Given the description of an element on the screen output the (x, y) to click on. 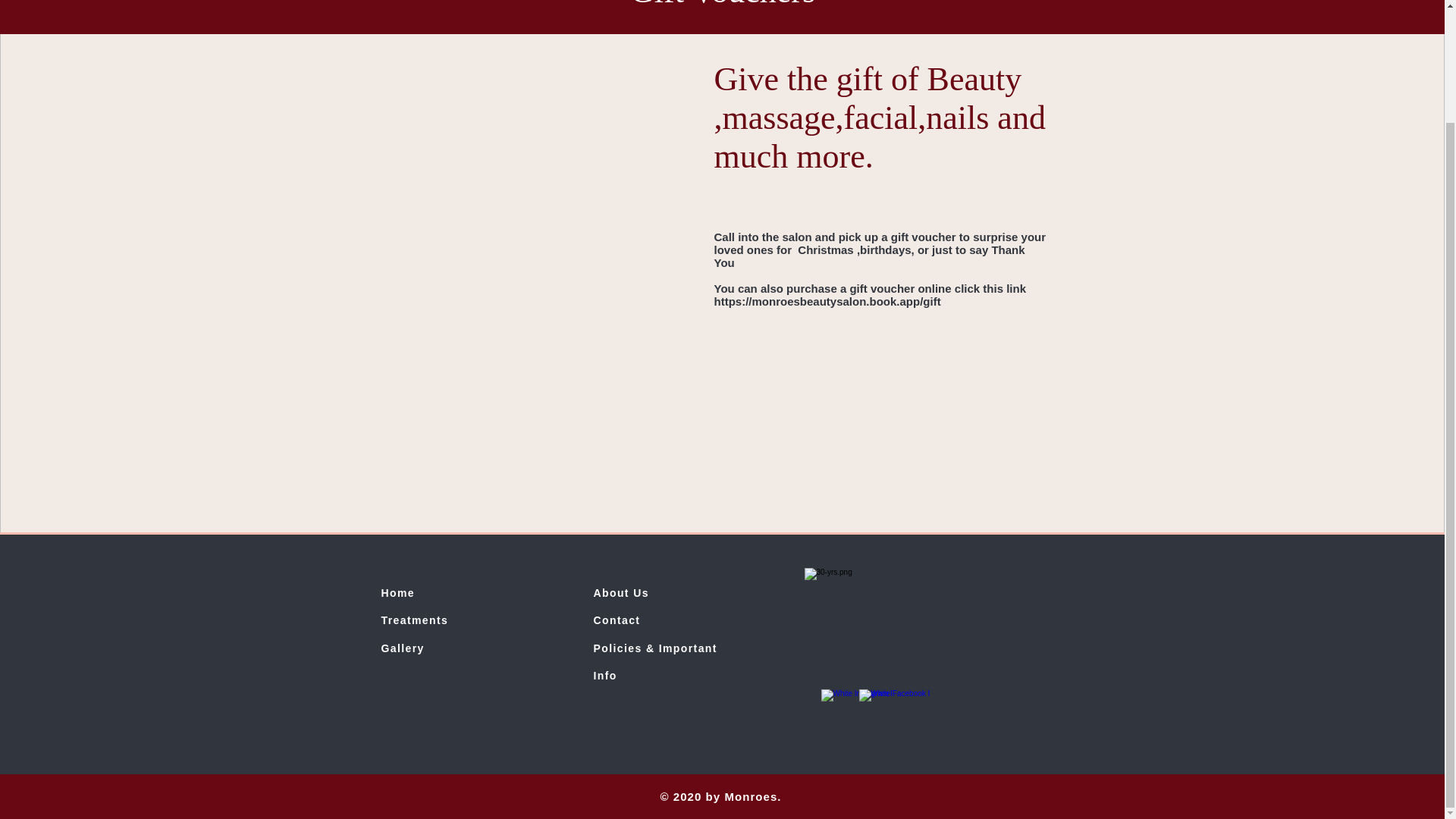
Home (397, 592)
Gallery (401, 648)
About Us (619, 592)
Treatments  (415, 620)
Contact (616, 620)
